Given the description of an element on the screen output the (x, y) to click on. 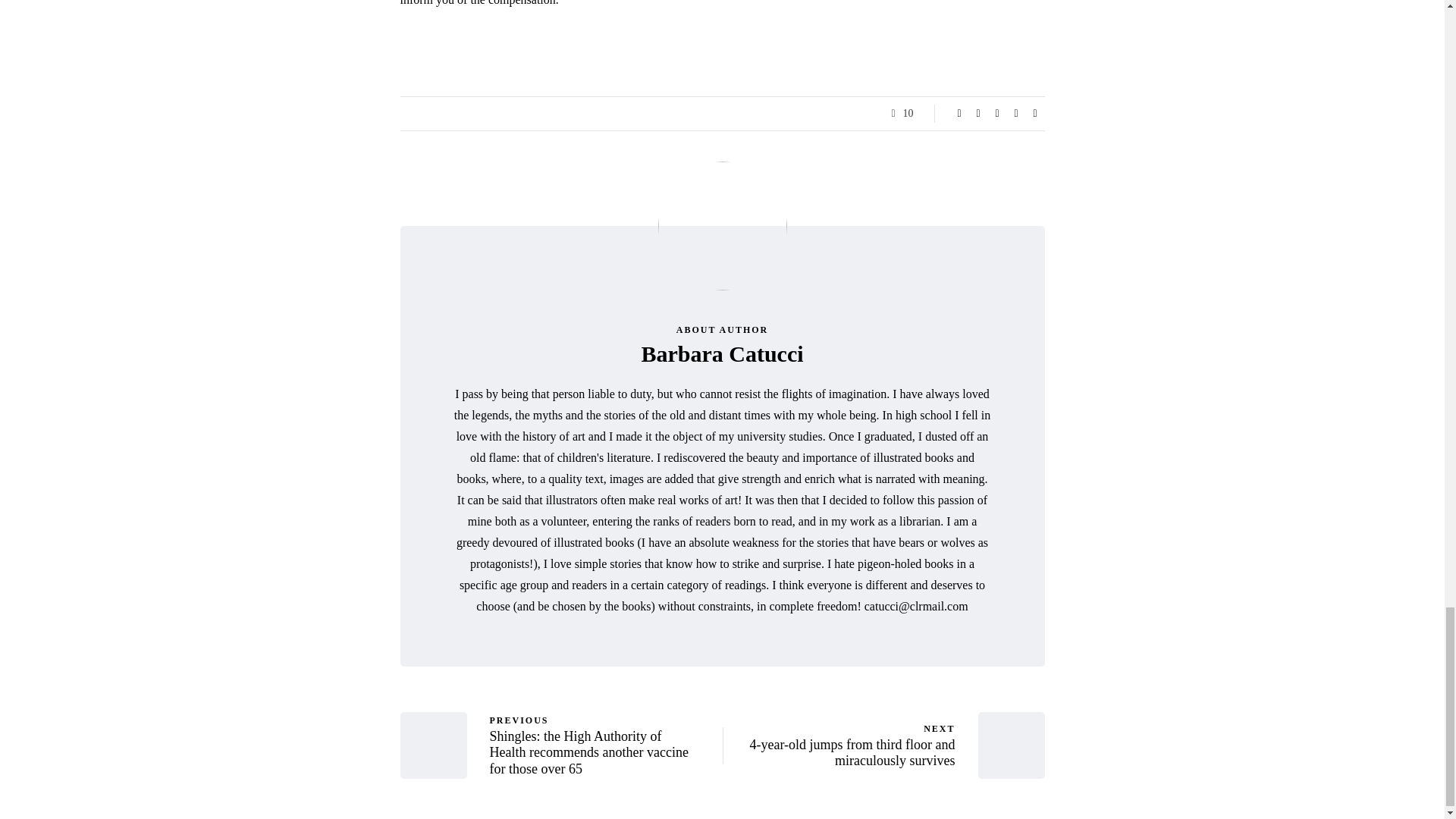
Pin this (1016, 113)
Tweet this (978, 113)
Share to WhatsApp (1034, 113)
Share with Facebook (958, 113)
Barbara Catucci (721, 353)
Share with LinkedIn (996, 113)
Posts by Barbara Catucci (721, 353)
